Given the description of an element on the screen output the (x, y) to click on. 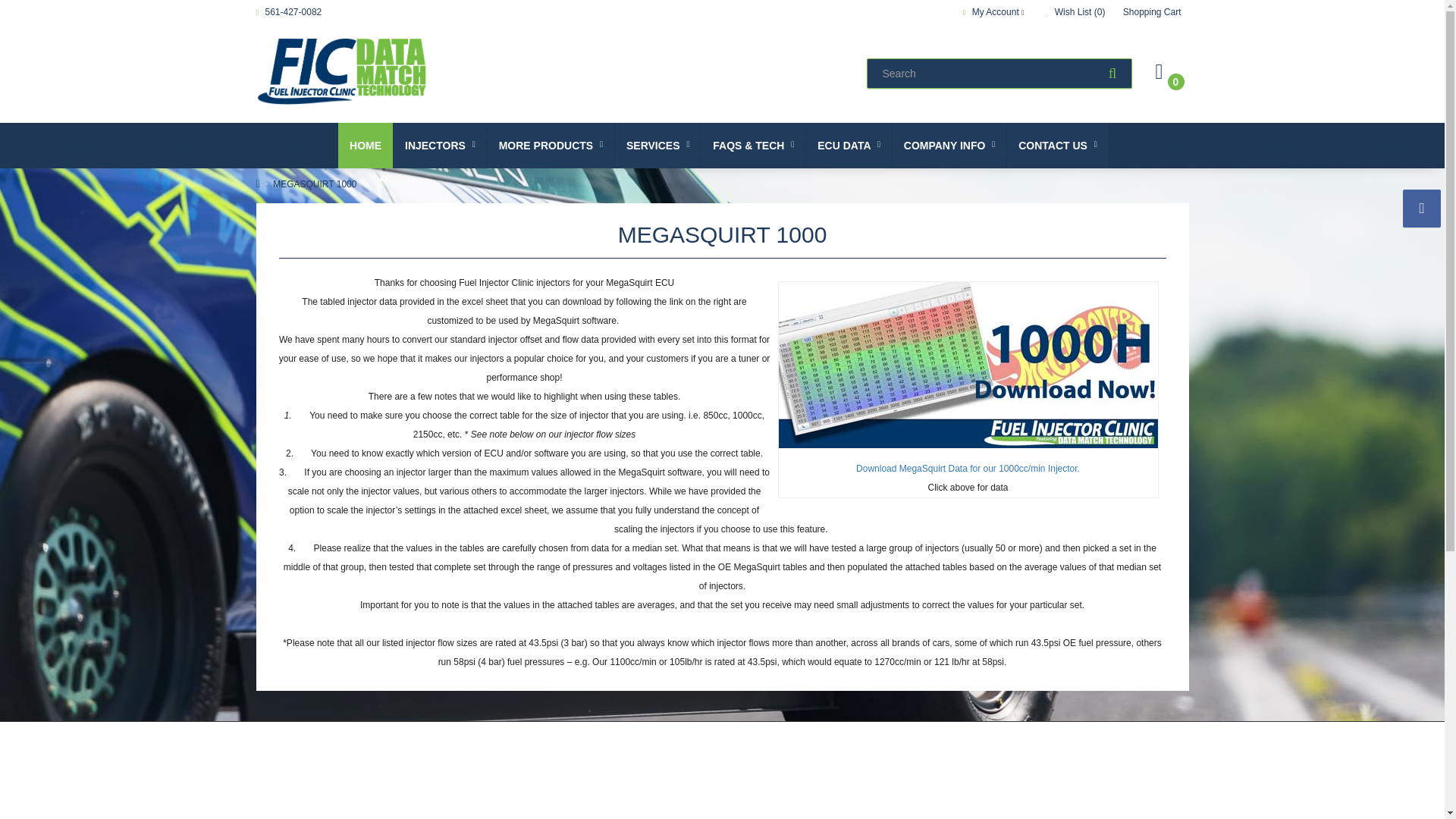
My Account (994, 11)
Shopping Cart (1151, 11)
Shopping Cart (1151, 11)
561-427-0082 (288, 11)
My Account (994, 11)
INJECTORS (439, 145)
HOME (365, 145)
0 (1165, 73)
Fuel Injector Clinic (342, 70)
